Given the description of an element on the screen output the (x, y) to click on. 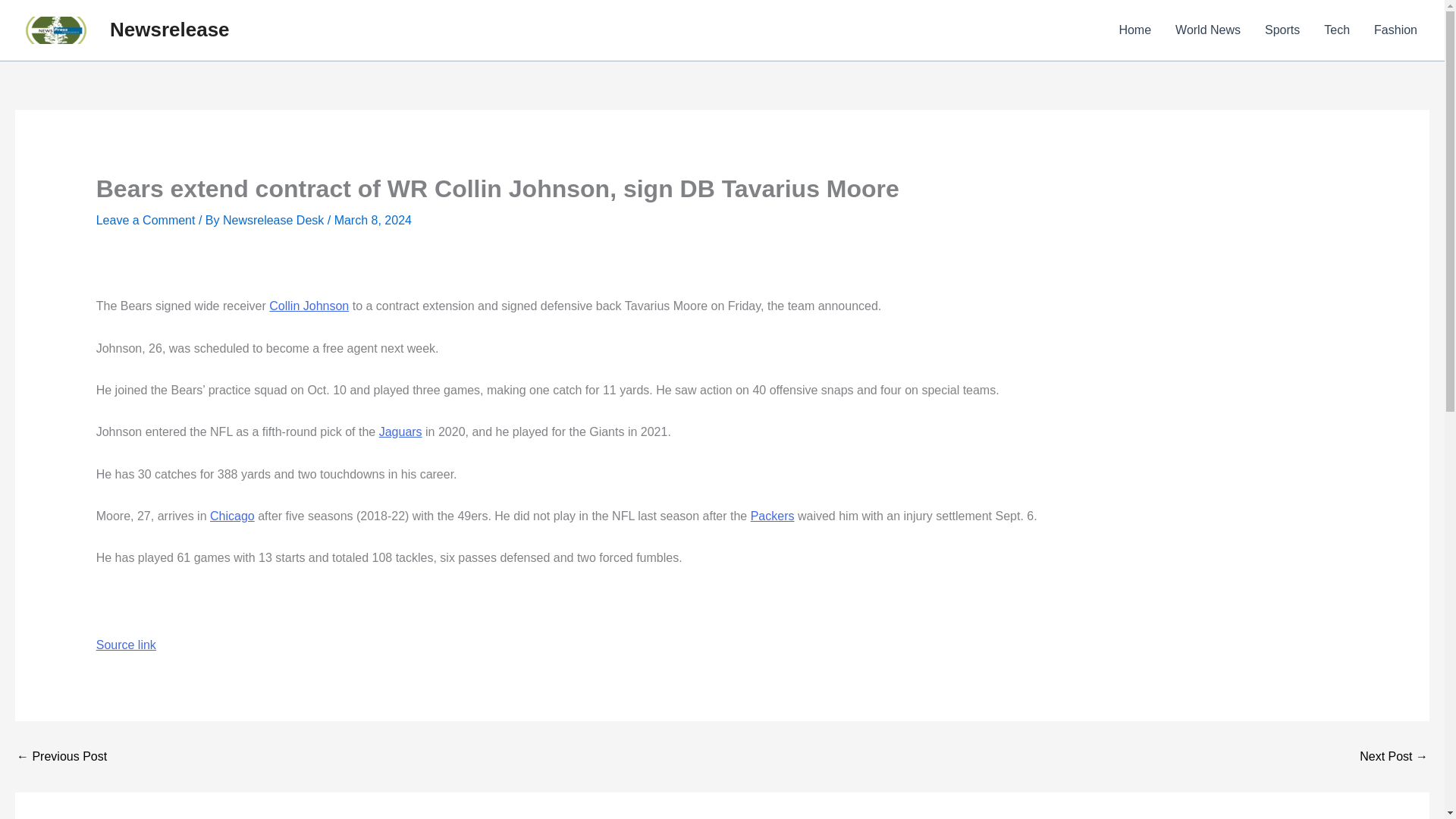
Newsrelease (170, 29)
Ravens announce four-year extension for Justin Madubuike (1393, 756)
Fashion (1395, 30)
View all posts by Newsrelease Desk (274, 219)
Collin Johnson (309, 305)
Leave a Comment (145, 219)
Jaguars (400, 431)
Sports (1281, 30)
Newsrelease Desk (274, 219)
Source link (125, 644)
